Given the description of an element on the screen output the (x, y) to click on. 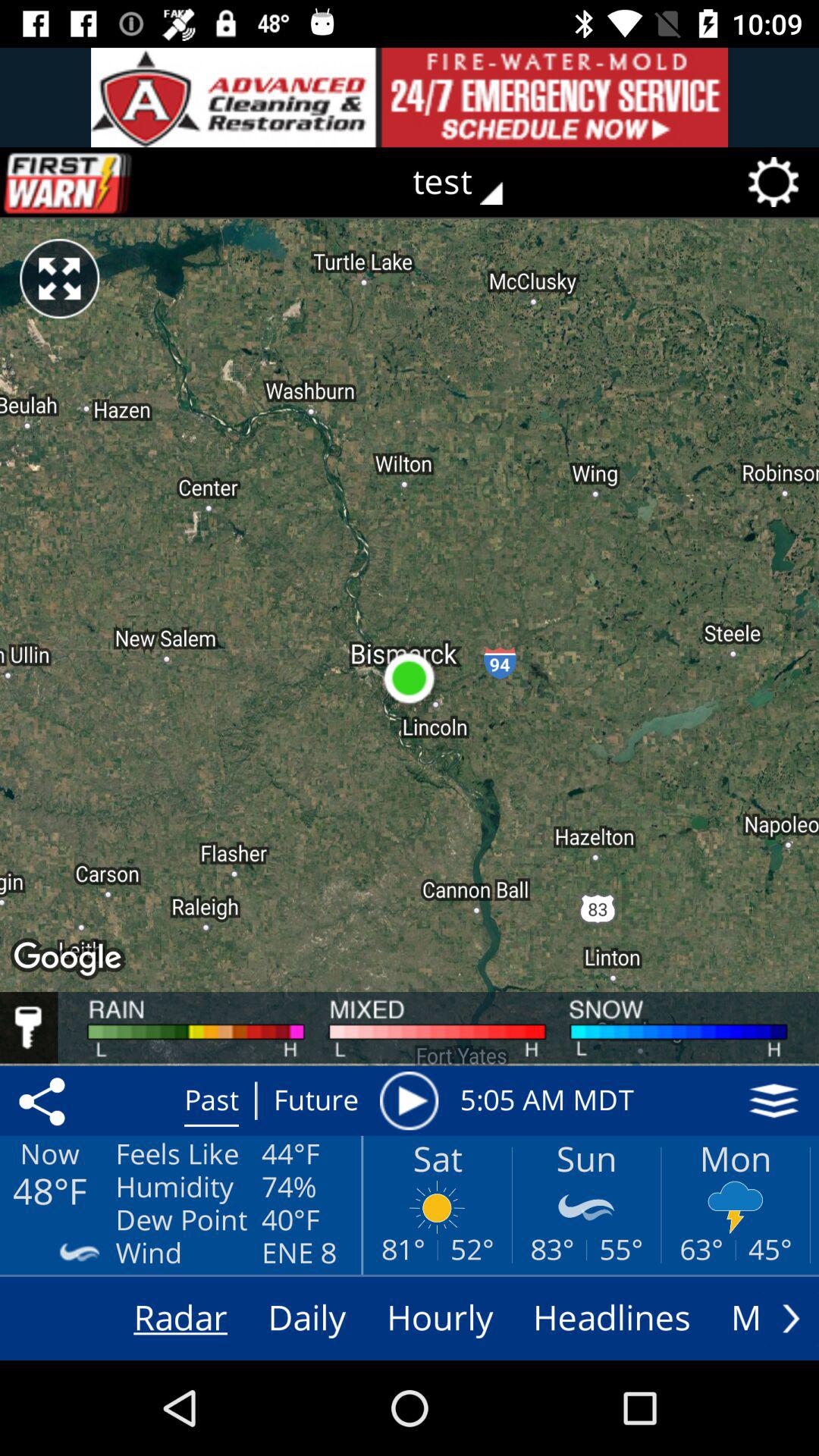
play video (409, 1100)
